Given the description of an element on the screen output the (x, y) to click on. 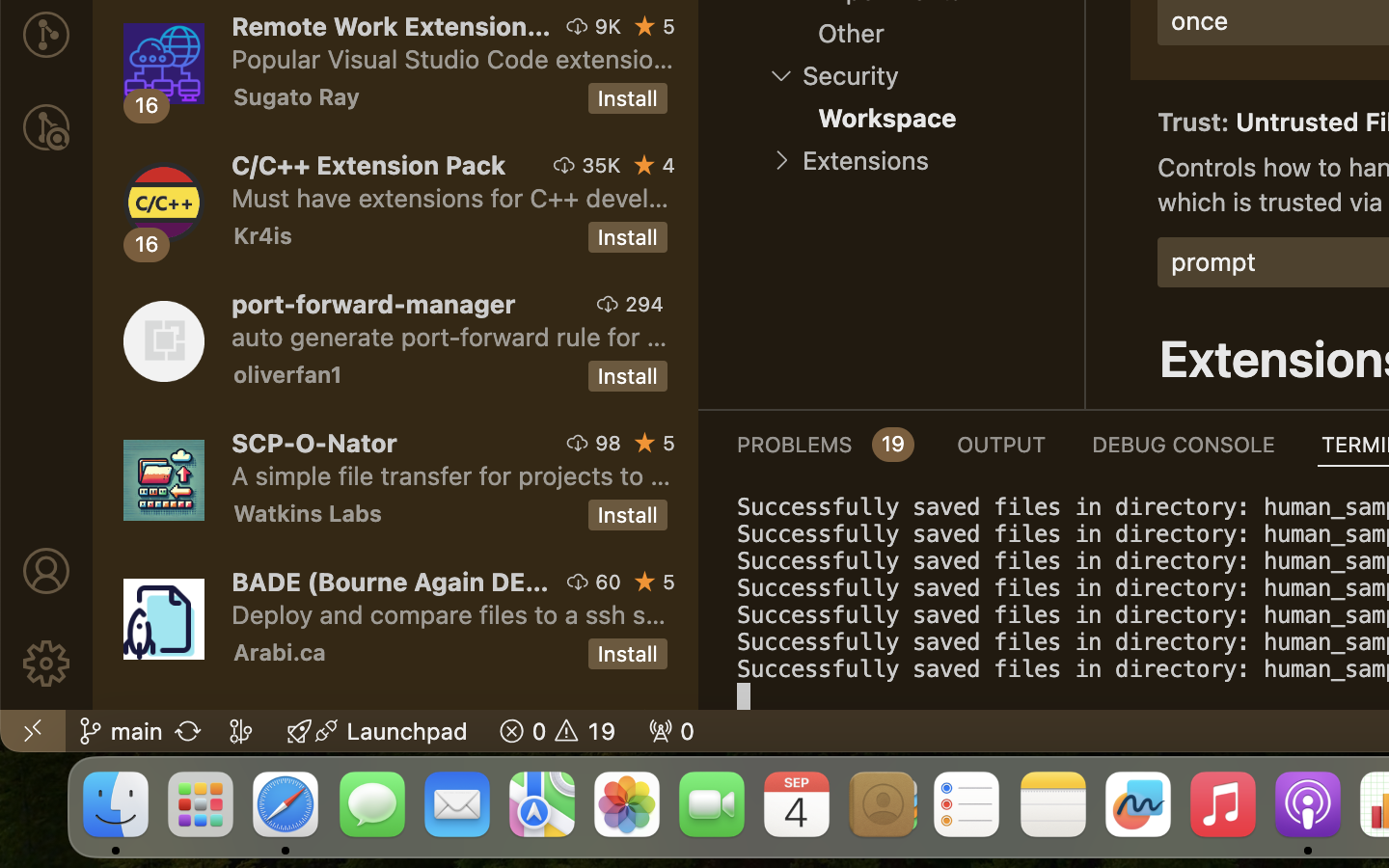
 Element type: AXStaticText (780, 74)
9K Element type: AXStaticText (607, 25)
oliverfan1 Element type: AXStaticText (288, 373)
0 OUTPUT Element type: AXRadioButton (1001, 443)
Arabi.ca Element type: AXStaticText (279, 651)
